Given the description of an element on the screen output the (x, y) to click on. 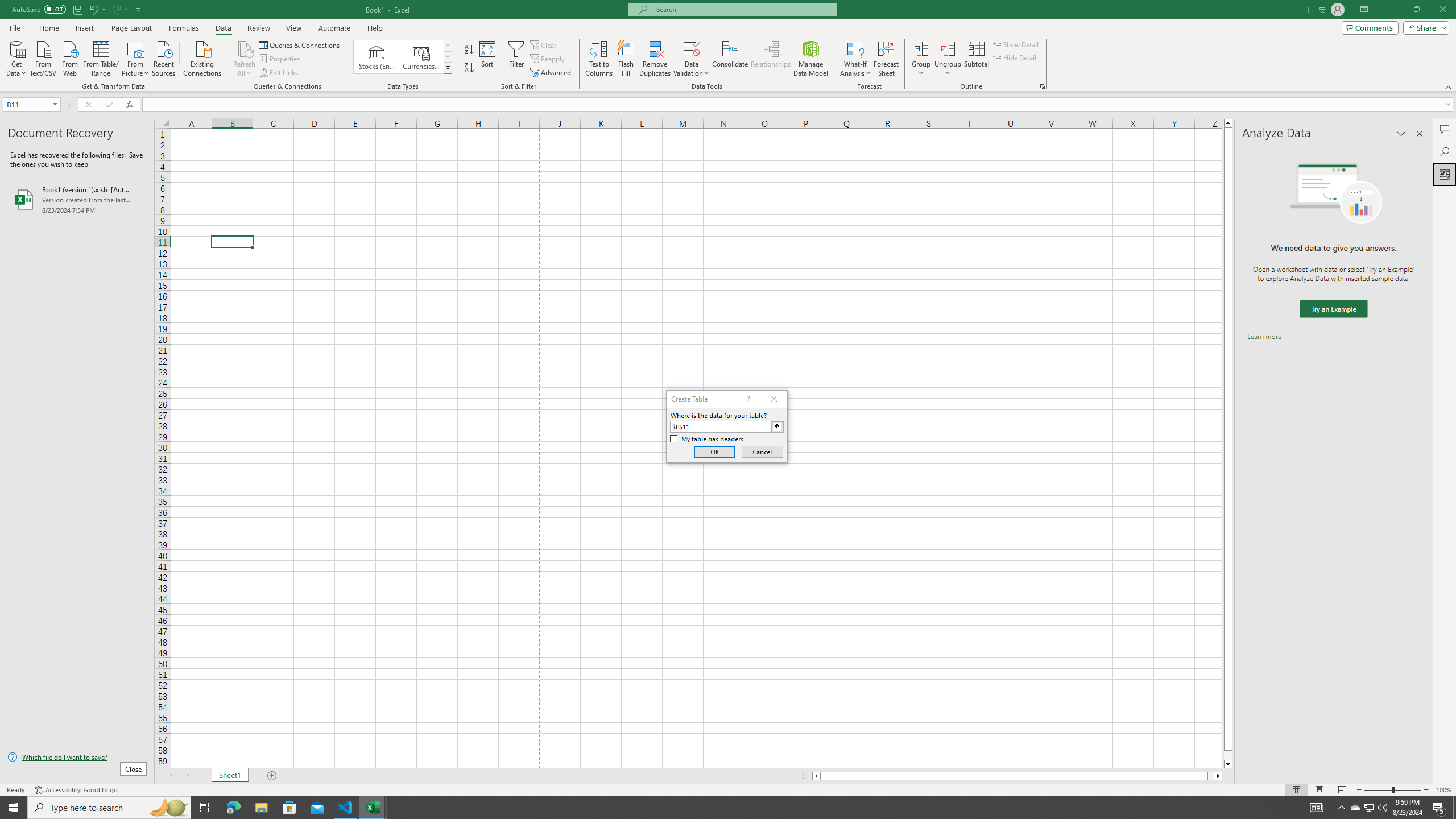
Consolidate... (729, 58)
